Given the description of an element on the screen output the (x, y) to click on. 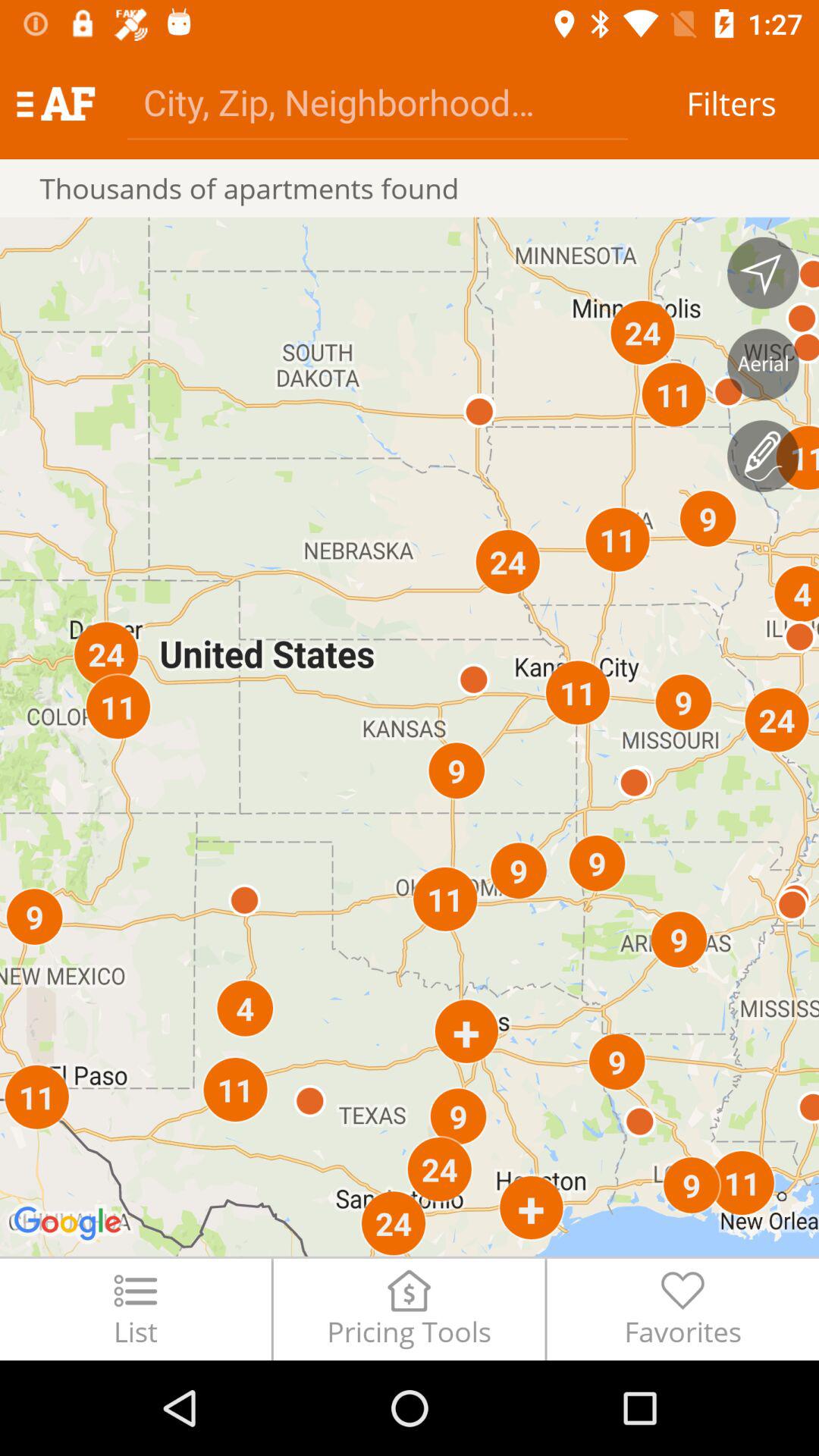
choose item next to pricing tools icon (135, 1309)
